Given the description of an element on the screen output the (x, y) to click on. 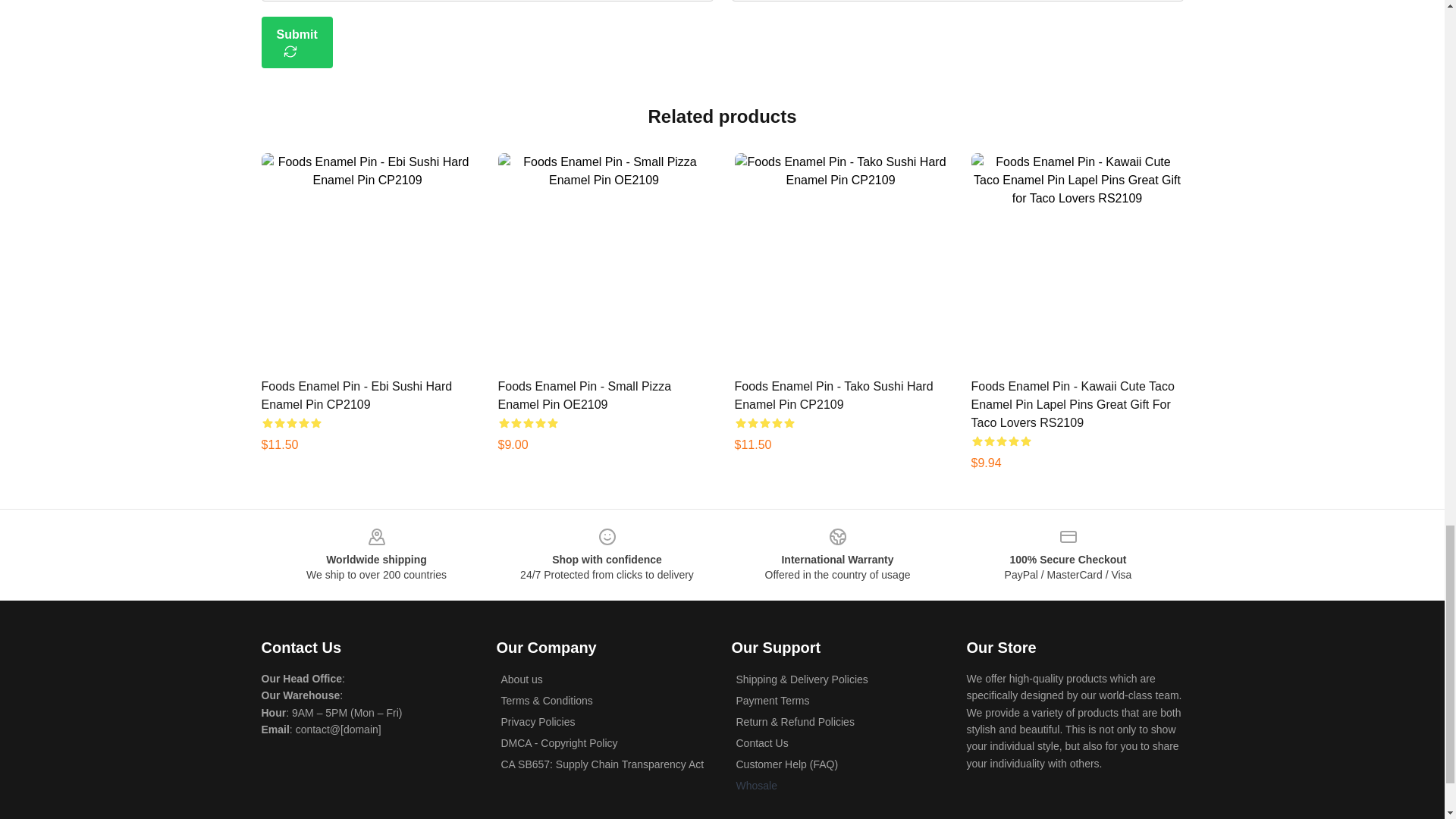
Submit (295, 41)
Foods Enamel Pin - Tako Sushi Hard Enamel Pin CP2109 (833, 395)
Foods Enamel Pin - Ebi Sushi Hard Enamel Pin CP2109 (355, 395)
Foods Enamel Pin - Small Pizza Enamel Pin OE2109 (584, 395)
